Given the description of an element on the screen output the (x, y) to click on. 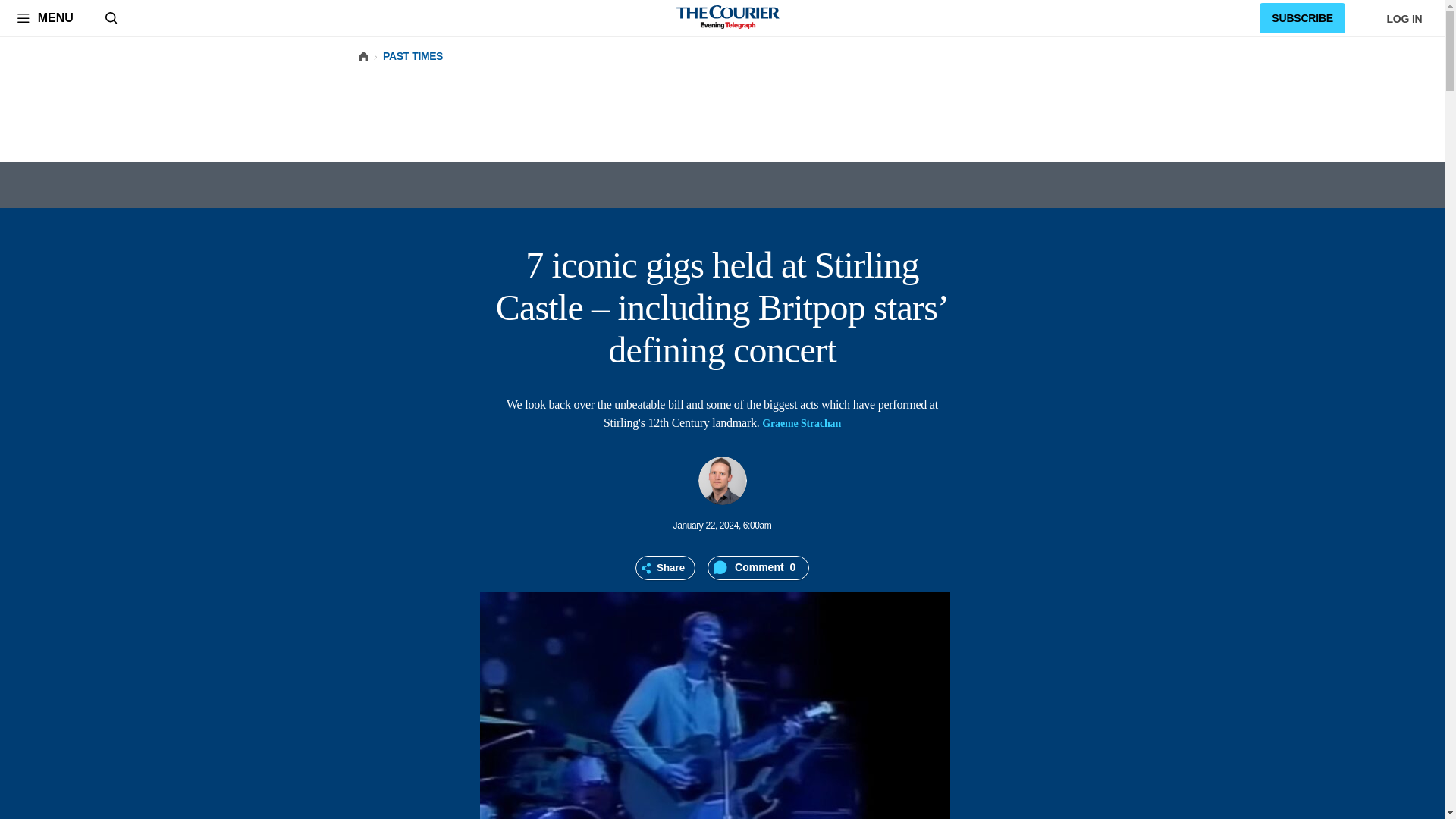
Graeme Strachan (721, 480)
MENU (44, 17)
The Courier (727, 17)
